Given the description of an element on the screen output the (x, y) to click on. 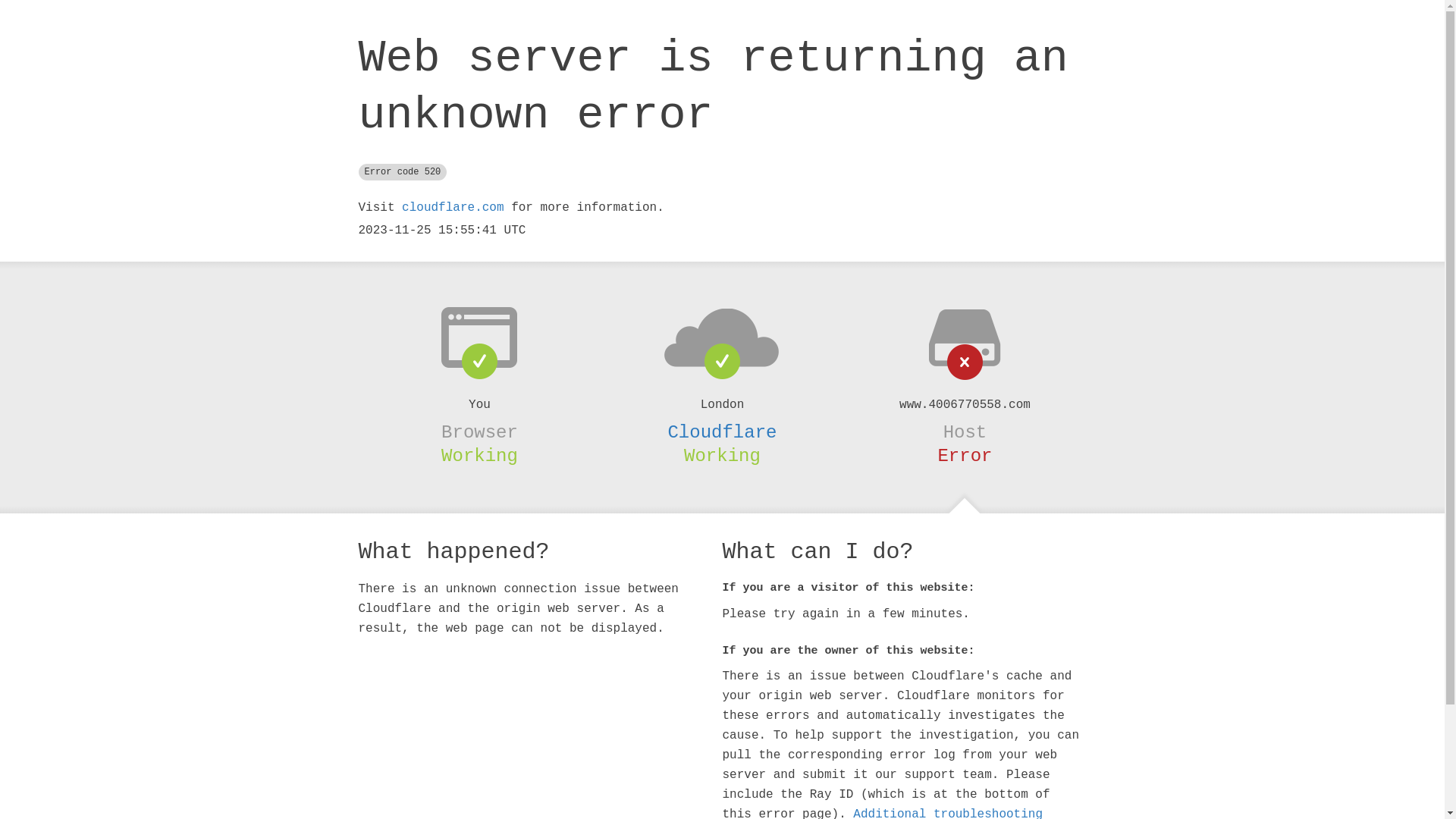
Cloudflare Element type: text (721, 432)
cloudflare.com Element type: text (452, 207)
